Given the description of an element on the screen output the (x, y) to click on. 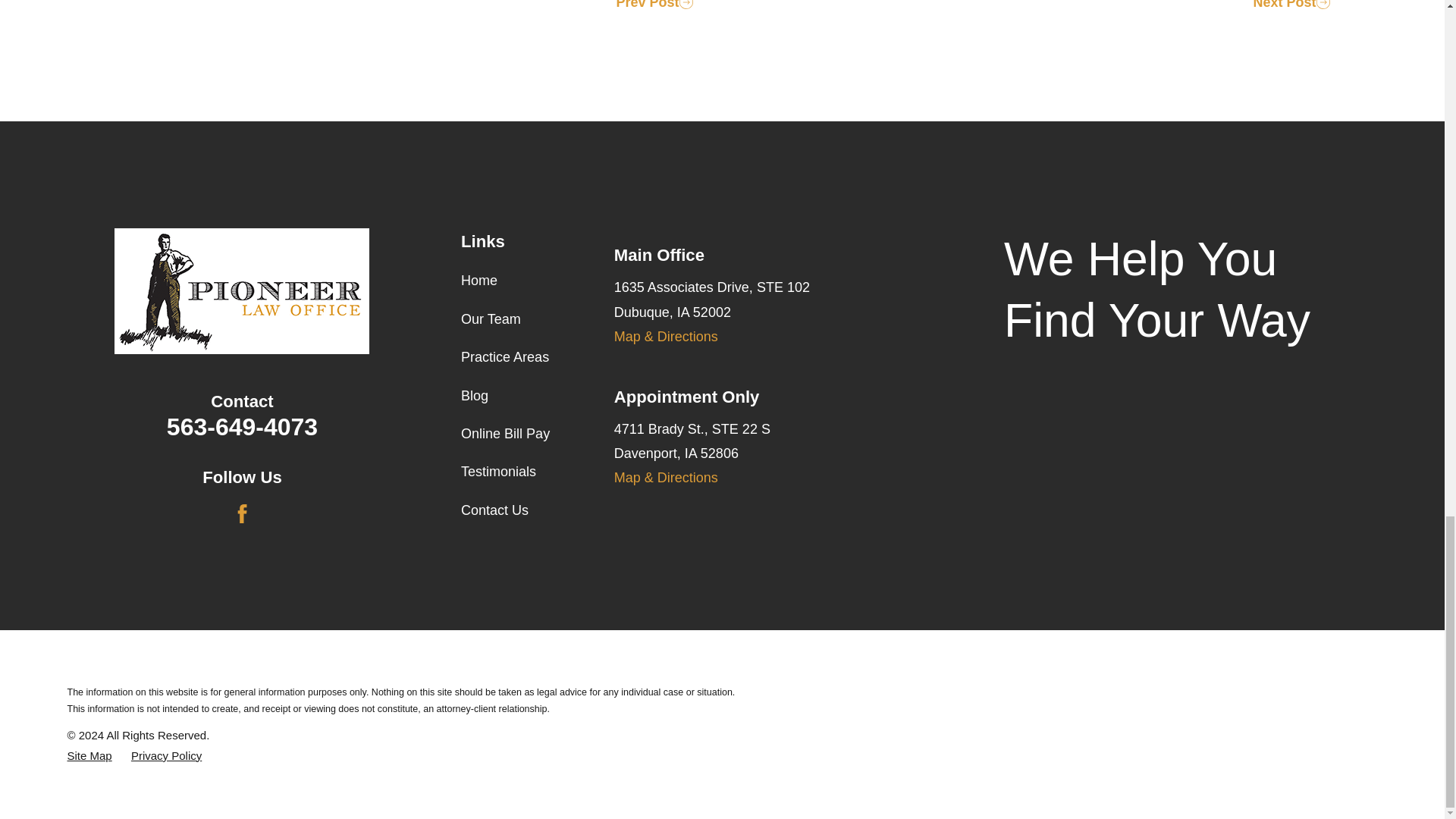
Home (242, 290)
Facebook (241, 513)
